Given the description of an element on the screen output the (x, y) to click on. 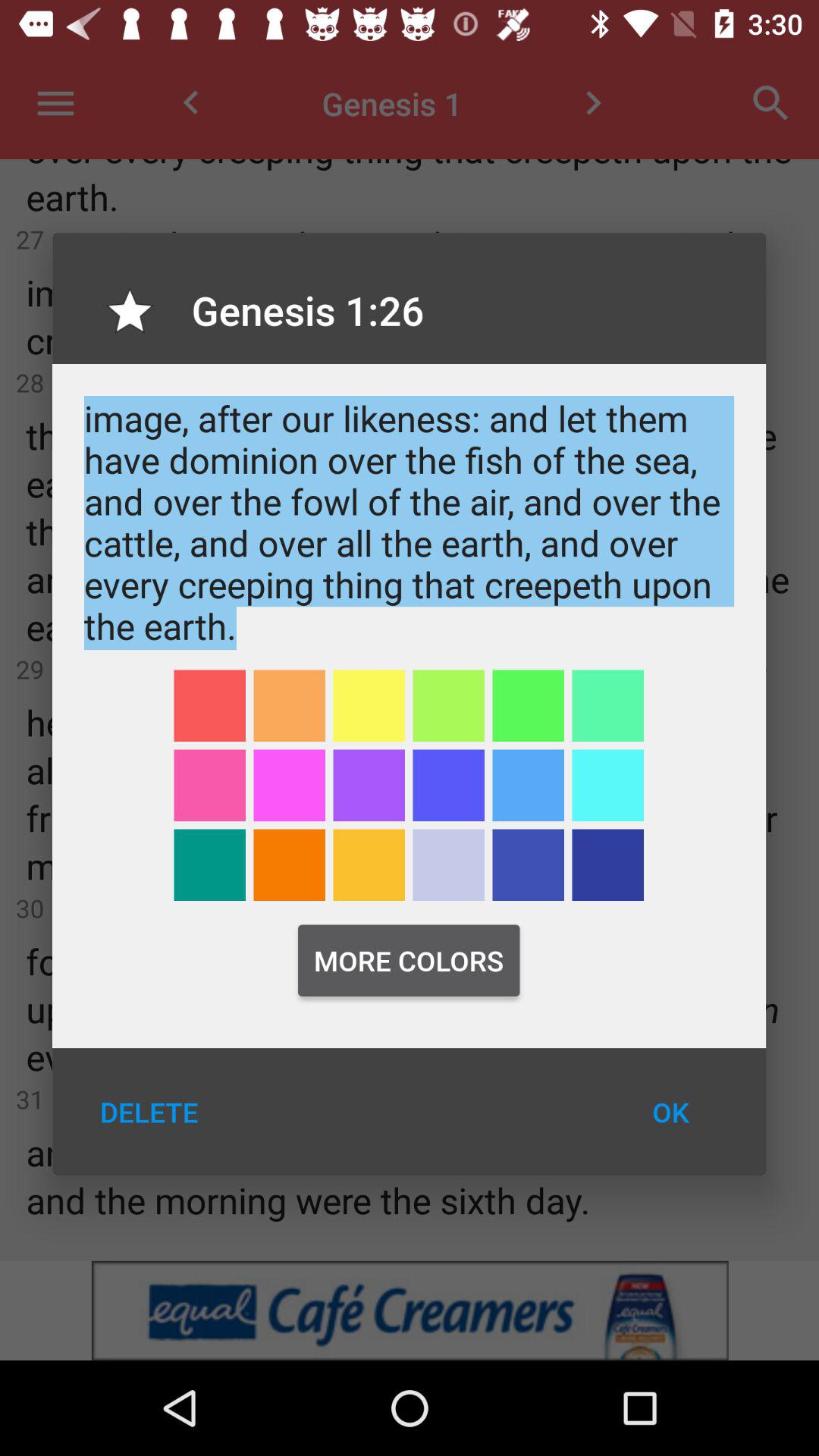
swipe until delete (149, 1111)
